Given the description of an element on the screen output the (x, y) to click on. 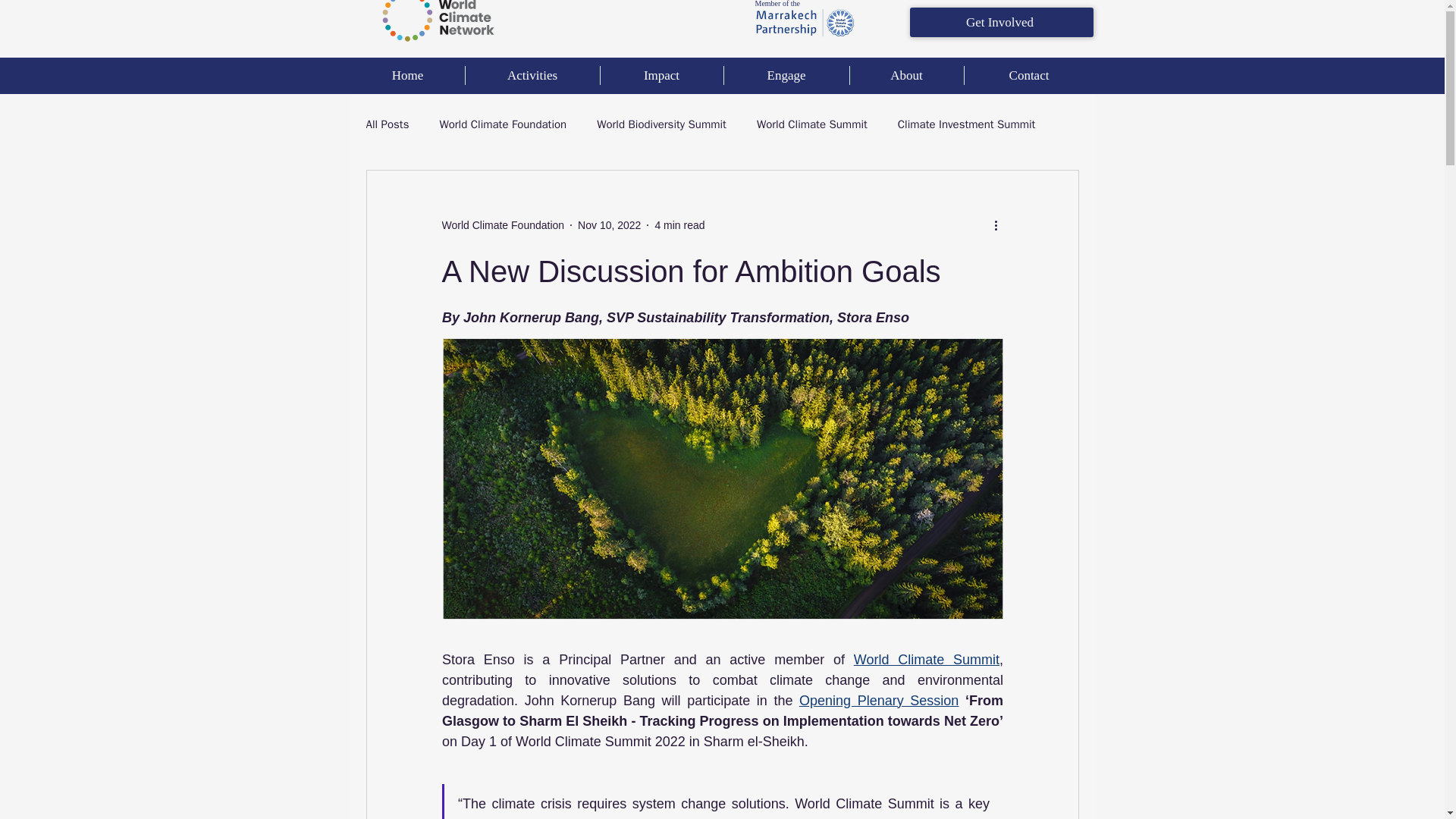
Home (407, 75)
About (905, 75)
Opening Plenary Session (878, 700)
World Climate Summit (925, 659)
Get Involved (1001, 21)
Impact (661, 75)
4 min read (678, 224)
Nov 10, 2022 (609, 224)
Engage (785, 75)
World Climate Summit (812, 124)
